Given the description of an element on the screen output the (x, y) to click on. 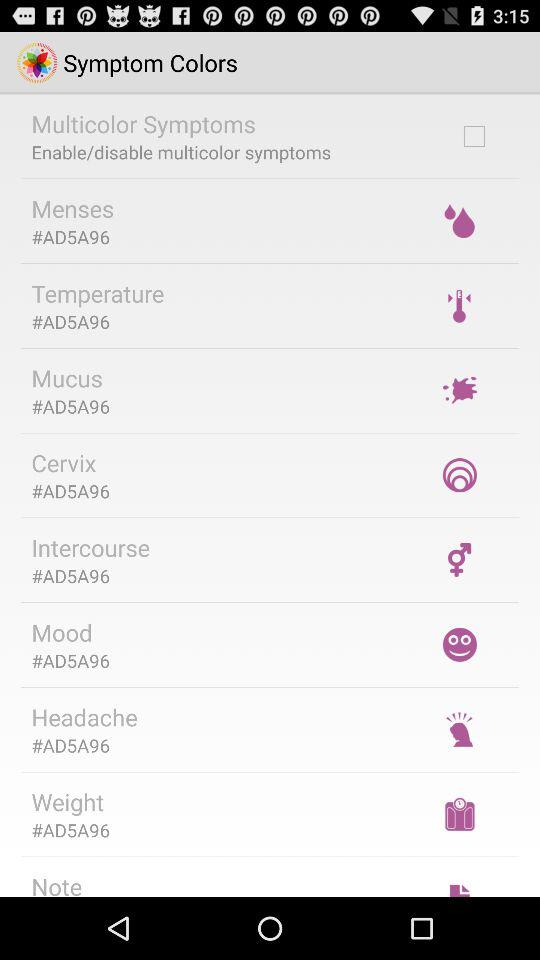
open mucus app (66, 378)
